Given the description of an element on the screen output the (x, y) to click on. 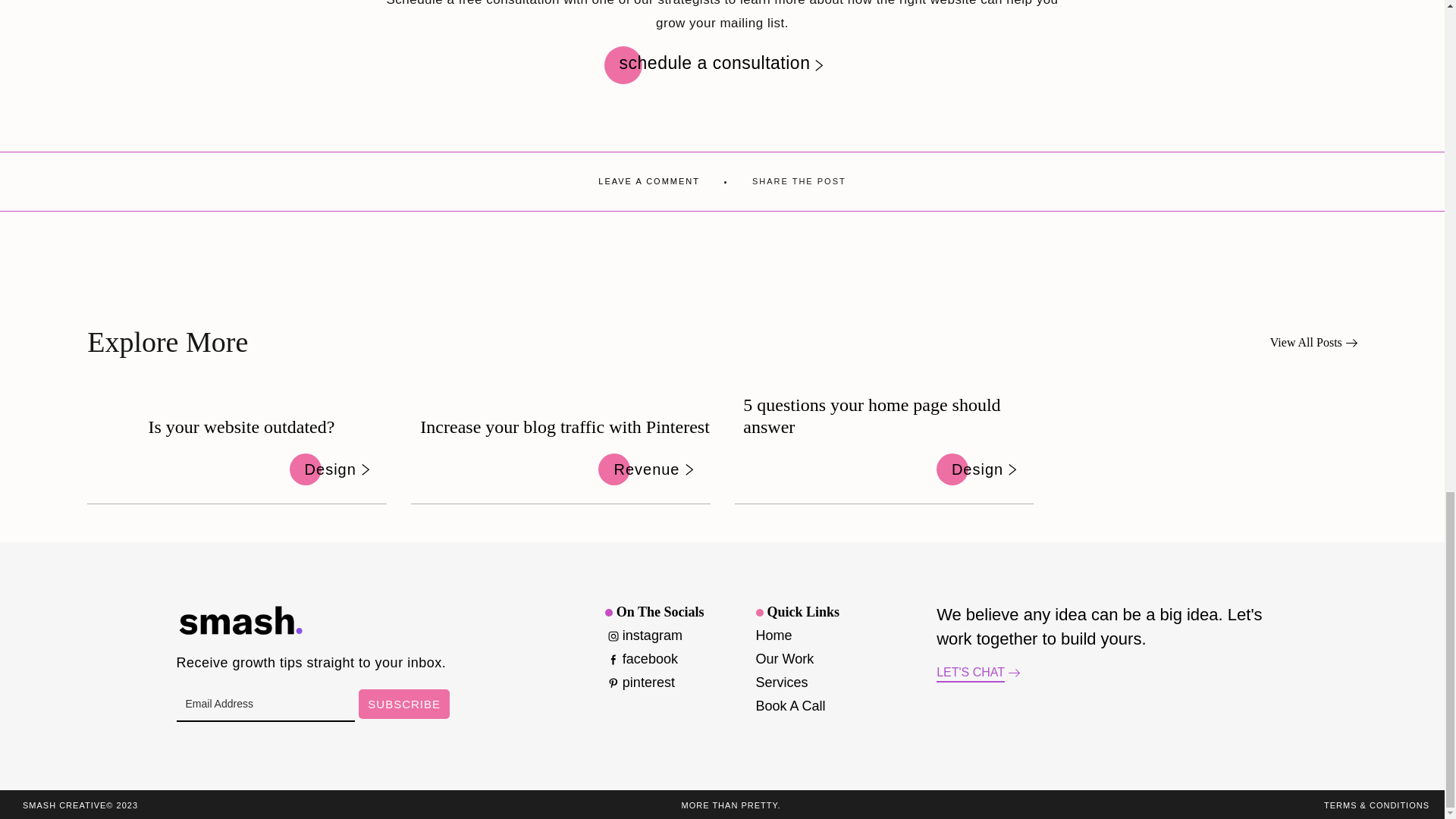
LEAVE A COMMENT (649, 181)
5 questions your home page should answer (887, 415)
facebook (641, 658)
LEAVE A COMMENT (649, 181)
instagram (643, 635)
Is your website outdated? (241, 427)
Design (338, 469)
schedule a consultation (722, 62)
SUBSCRIBE (403, 703)
Design (984, 469)
View All Posts (1312, 342)
Revenue (654, 469)
Increase your blog traffic with Pinterest (564, 427)
